Given the description of an element on the screen output the (x, y) to click on. 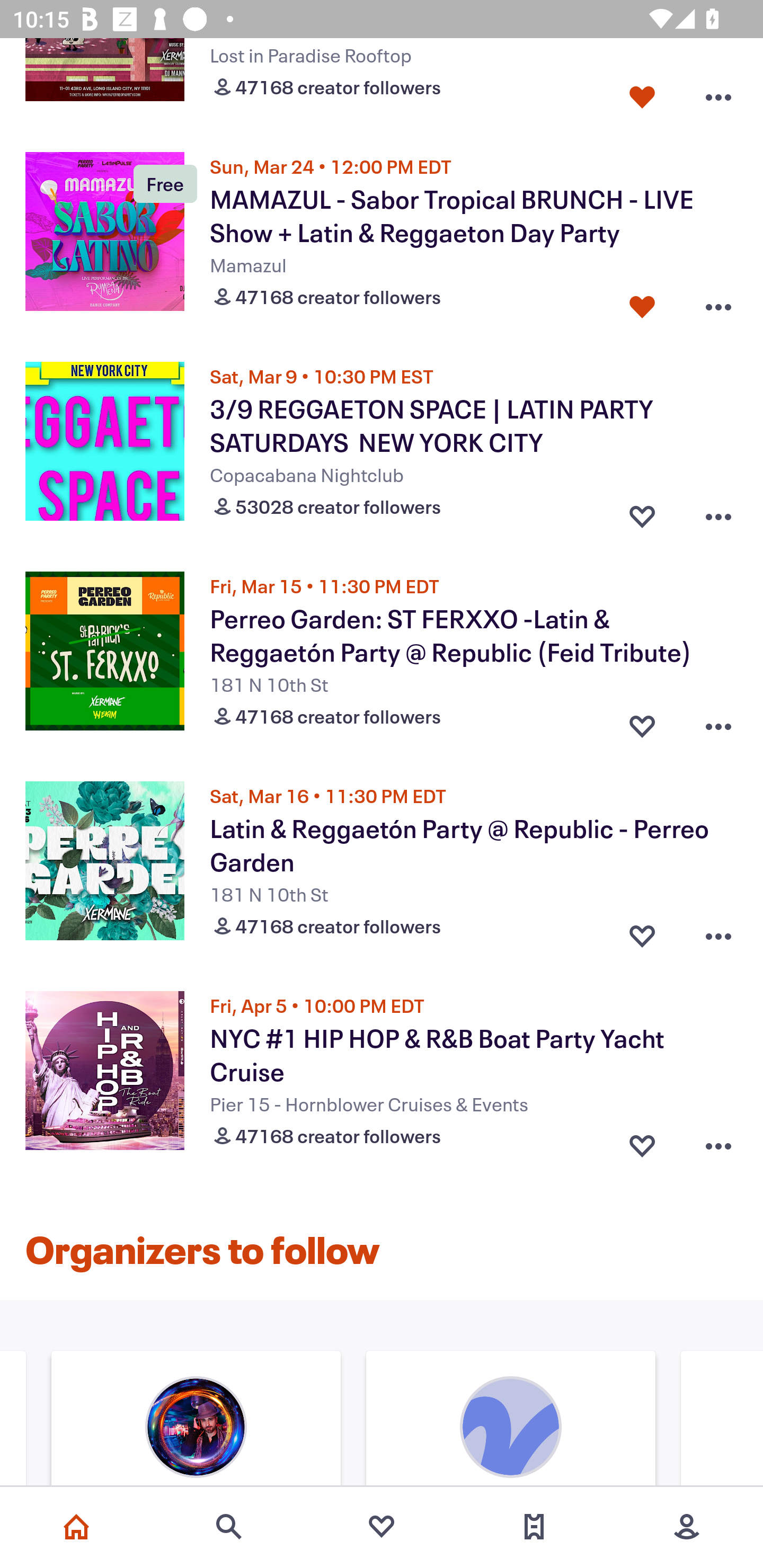
Favorite button (642, 93)
Overflow menu button (718, 93)
Favorite button (642, 303)
Overflow menu button (718, 303)
Favorite button (642, 511)
Overflow menu button (718, 511)
Favorite button (642, 721)
Overflow menu button (718, 721)
Favorite button (642, 931)
Overflow menu button (718, 931)
Favorite button (642, 1142)
Overflow menu button (718, 1142)
Organizer's image LatinParty.com by Club Cache (196, 1420)
Organizer's image Groove (510, 1420)
Home (76, 1526)
Search events (228, 1526)
Favorites (381, 1526)
Tickets (533, 1526)
More (686, 1526)
